Given the description of an element on the screen output the (x, y) to click on. 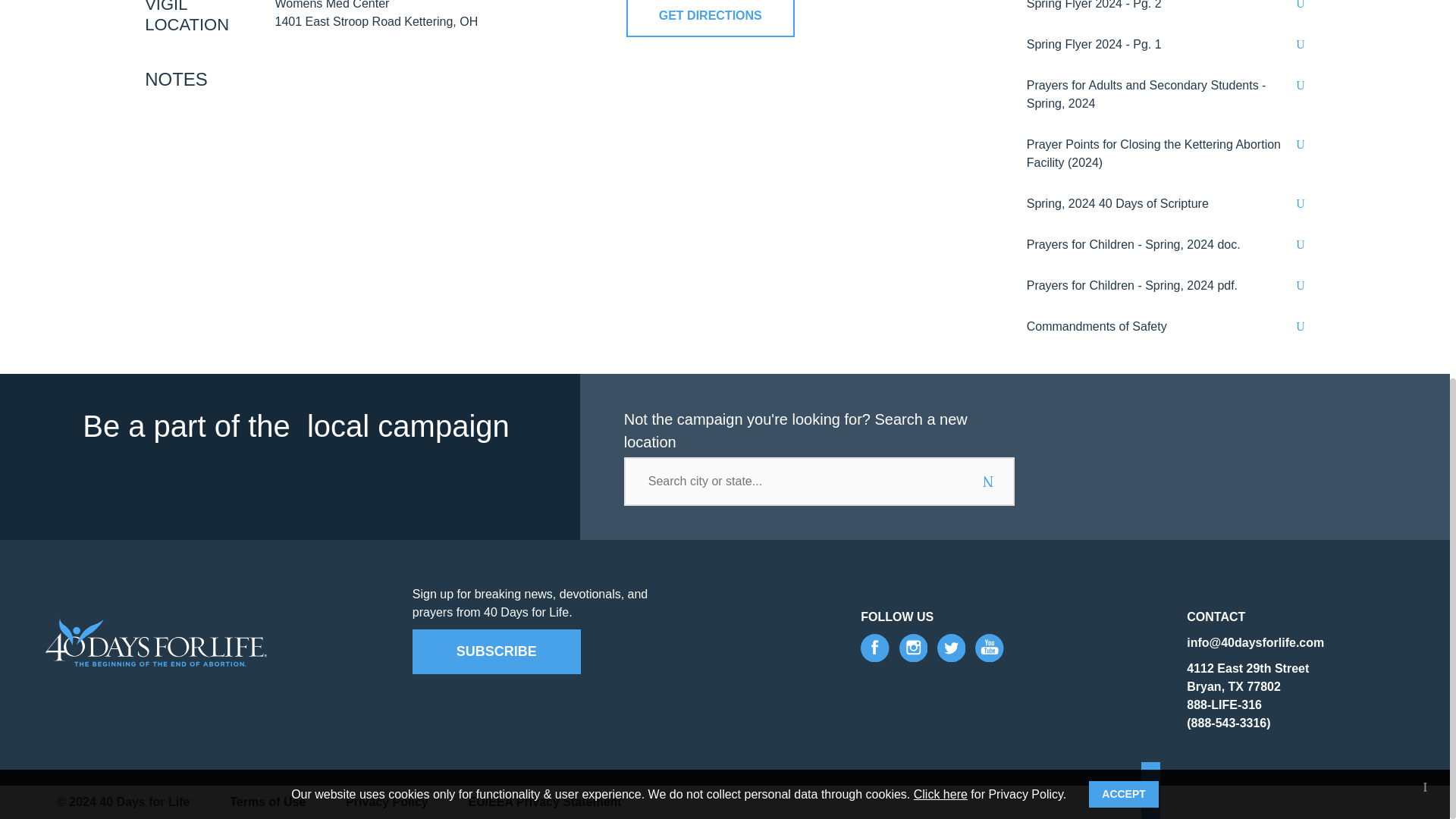
Click here (941, 90)
ACCEPT (1123, 90)
